Given the description of an element on the screen output the (x, y) to click on. 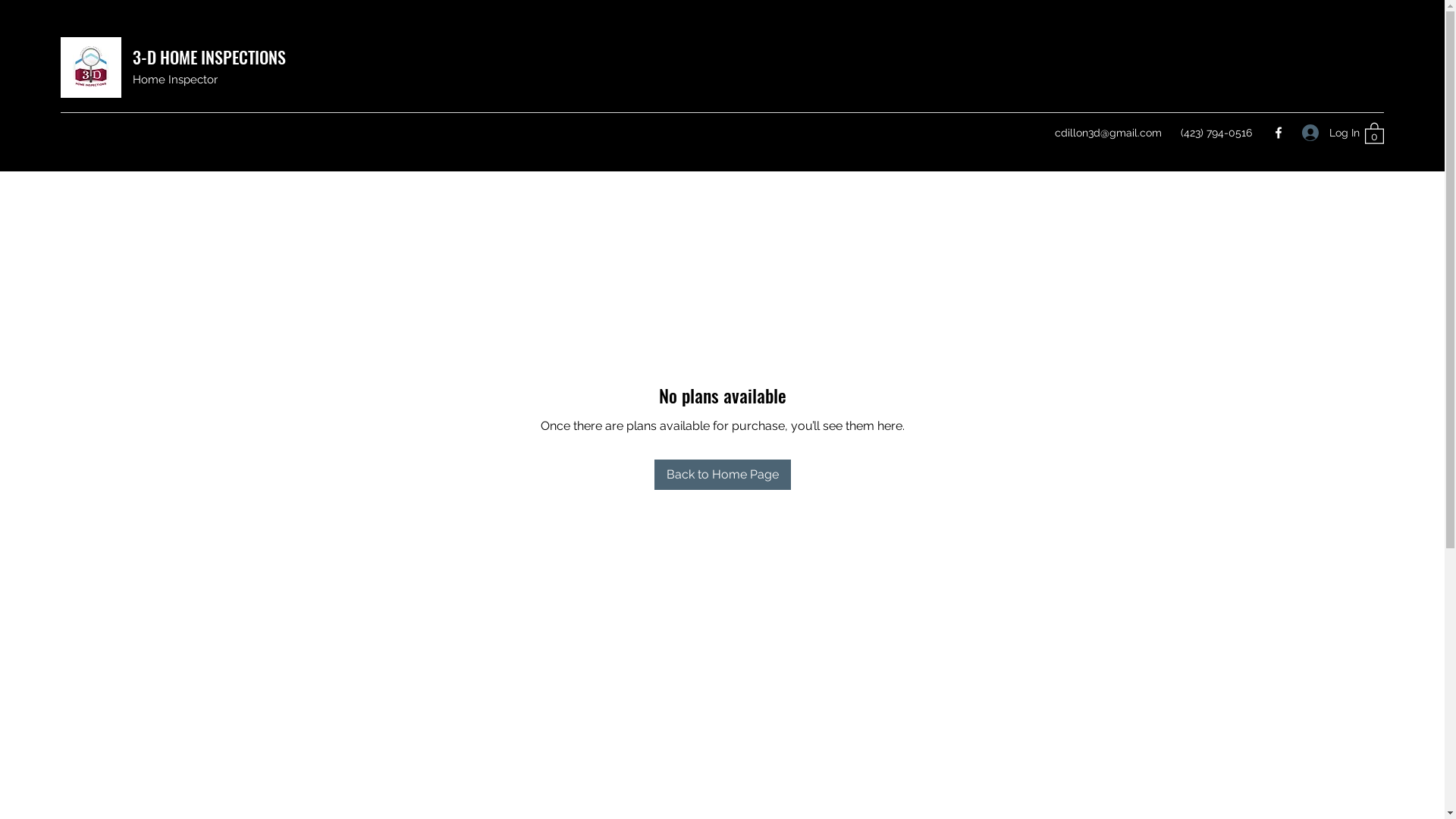
0 Element type: text (1374, 132)
Log In Element type: text (1325, 133)
Back to Home Page Element type: text (721, 474)
3-D HOME INSPECTIONS Element type: text (208, 56)
cdillon3d@gmail.com Element type: text (1107, 132)
